Given the description of an element on the screen output the (x, y) to click on. 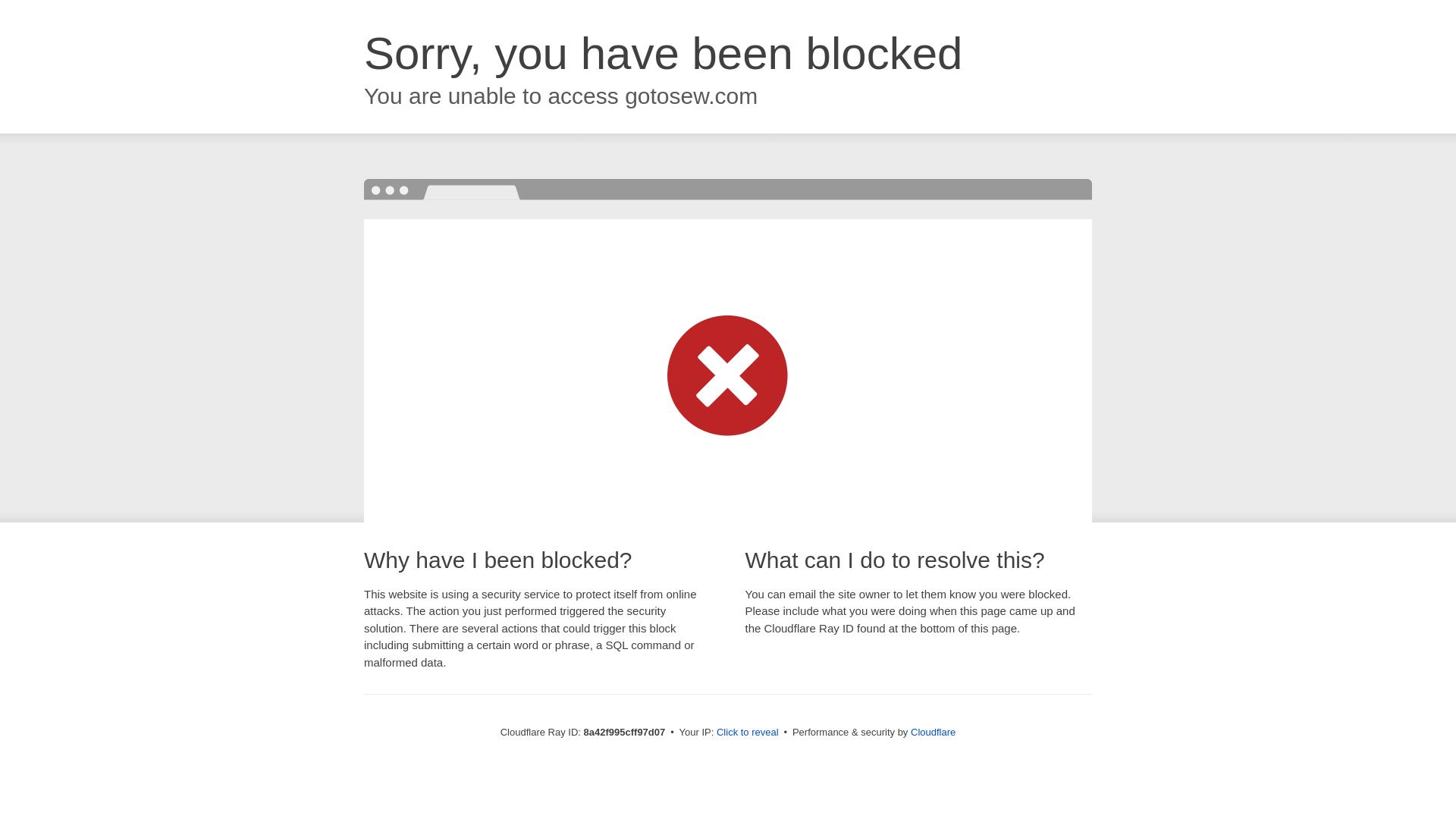
Cloudflare (933, 731)
Click to reveal (747, 732)
